Given the description of an element on the screen output the (x, y) to click on. 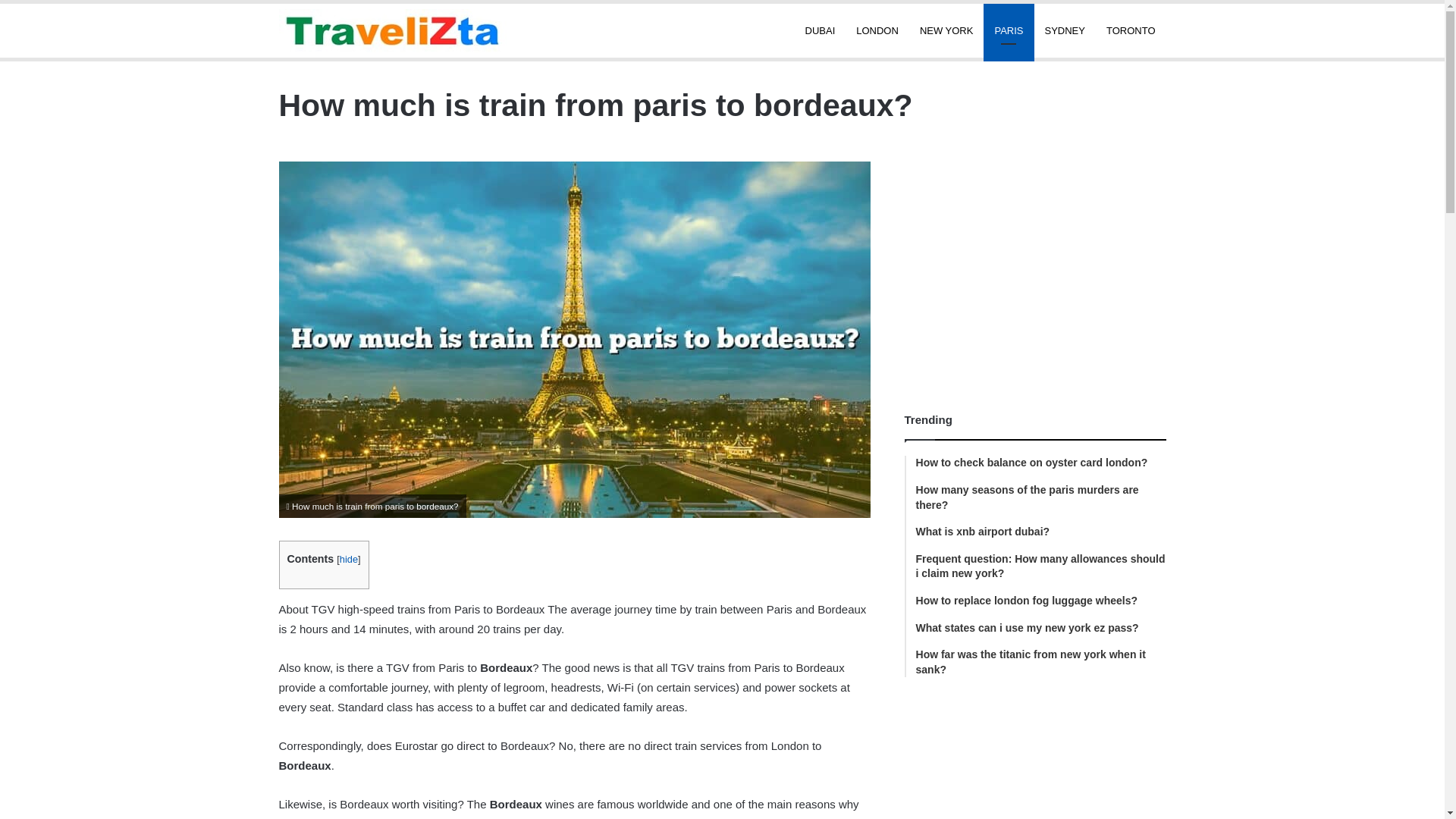
What is xnb airport dubai? (1040, 531)
TraveliZta (392, 30)
How far was the titanic from new york when it sank? (1040, 662)
PARIS (1008, 30)
How to replace london fog luggage wheels? (1040, 601)
Advertisement (1035, 267)
DUBAI (819, 30)
TORONTO (1131, 30)
How many seasons of the paris murders are there? (1040, 497)
How to check balance on oyster card london? (1040, 462)
Advertisement (1035, 766)
NEW YORK (946, 30)
hide (348, 559)
What states can i use my new york ez pass? (1040, 628)
